Given the description of an element on the screen output the (x, y) to click on. 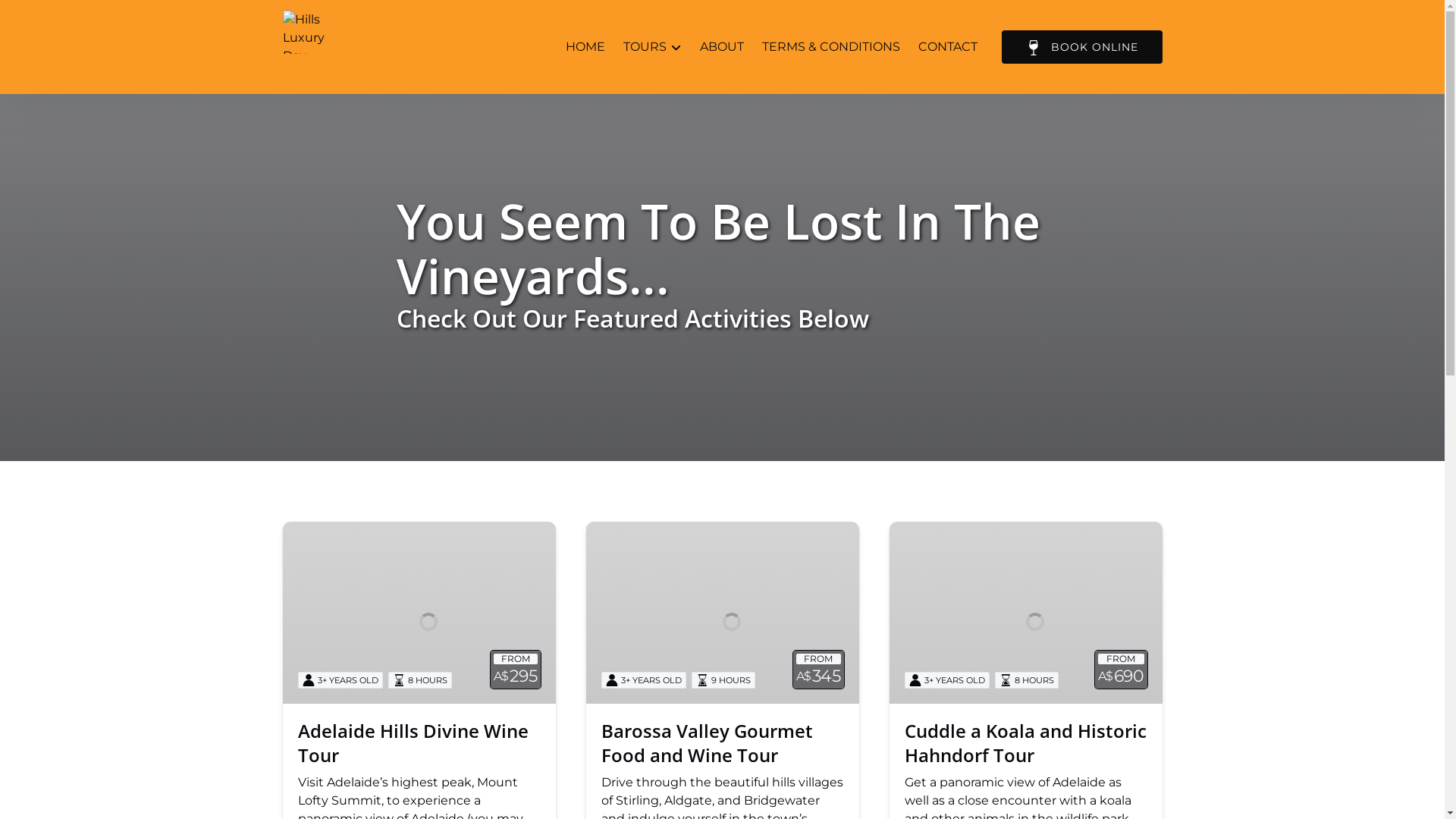
HOME Element type: text (585, 46)
Skip to content Element type: text (54, 16)
FROM
A$295
8 HOURS
3+ YEARS OLD Element type: text (418, 612)
TERMS & CONDITIONS Element type: text (830, 46)
Barossa Valley Gourmet Food and Wine Tour Element type: text (706, 742)
FROM
A$345
9 HOURS
3+ YEARS OLD Element type: text (721, 612)
TOURS Element type: text (652, 46)
CONTACT Element type: text (946, 46)
Skip to footer Element type: text (48, 16)
FROM
A$690
8 HOURS
3+ YEARS OLD Element type: text (1024, 612)
ABOUT Element type: text (721, 46)
Cuddle a Koala and Historic Hahndorf Tour Element type: text (1024, 742)
Skip to primary navigation Element type: text (87, 16)
WINE BOOK ONLINE Element type: text (1081, 46)
Adelaide Hills Divine Wine Tour Element type: text (412, 742)
